Given the description of an element on the screen output the (x, y) to click on. 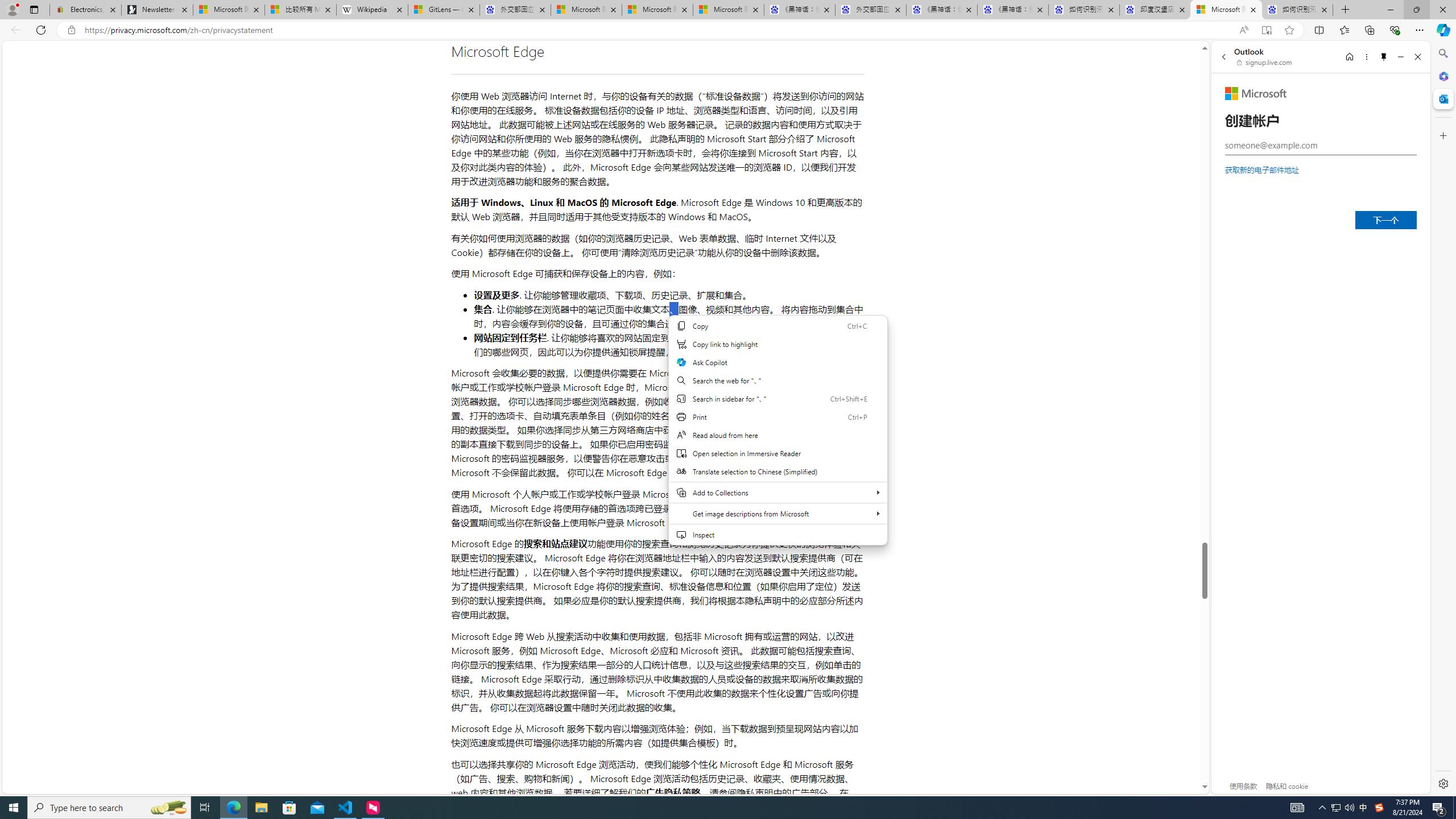
Unpin side pane (1383, 56)
Inspect (777, 534)
